Given the description of an element on the screen output the (x, y) to click on. 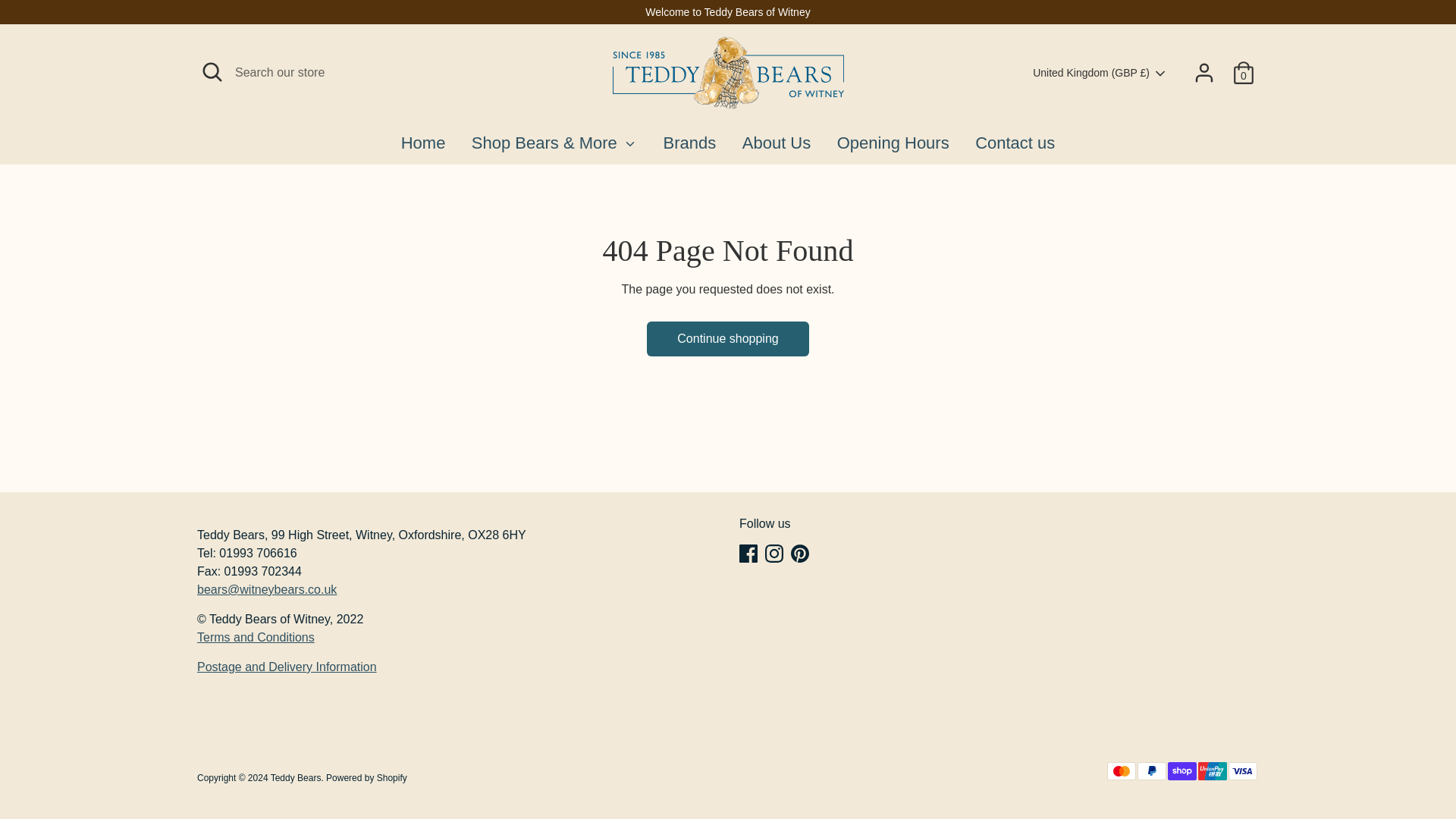
PayPal (1151, 771)
Terms and Conditions (255, 636)
Shop Pay (1181, 771)
Visa (1242, 771)
Union Pay (1212, 771)
Postage and Delivery Information (286, 666)
Mastercard (1120, 771)
